Given the description of an element on the screen output the (x, y) to click on. 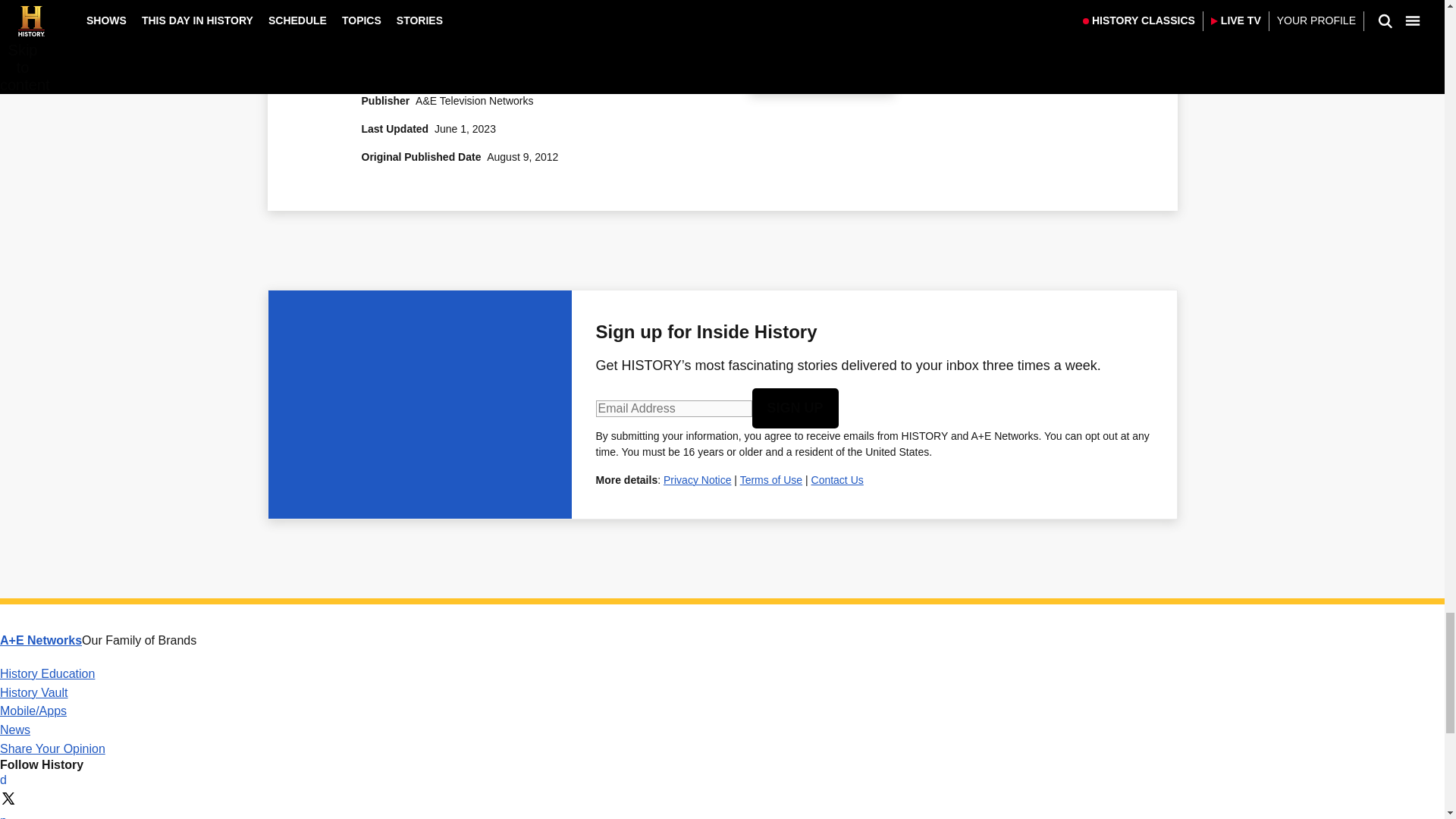
Visit News (15, 729)
Visit History Vault (34, 692)
Print (774, 72)
Visit History Education (47, 673)
Visit Share Your Opinion (52, 748)
